Given the description of an element on the screen output the (x, y) to click on. 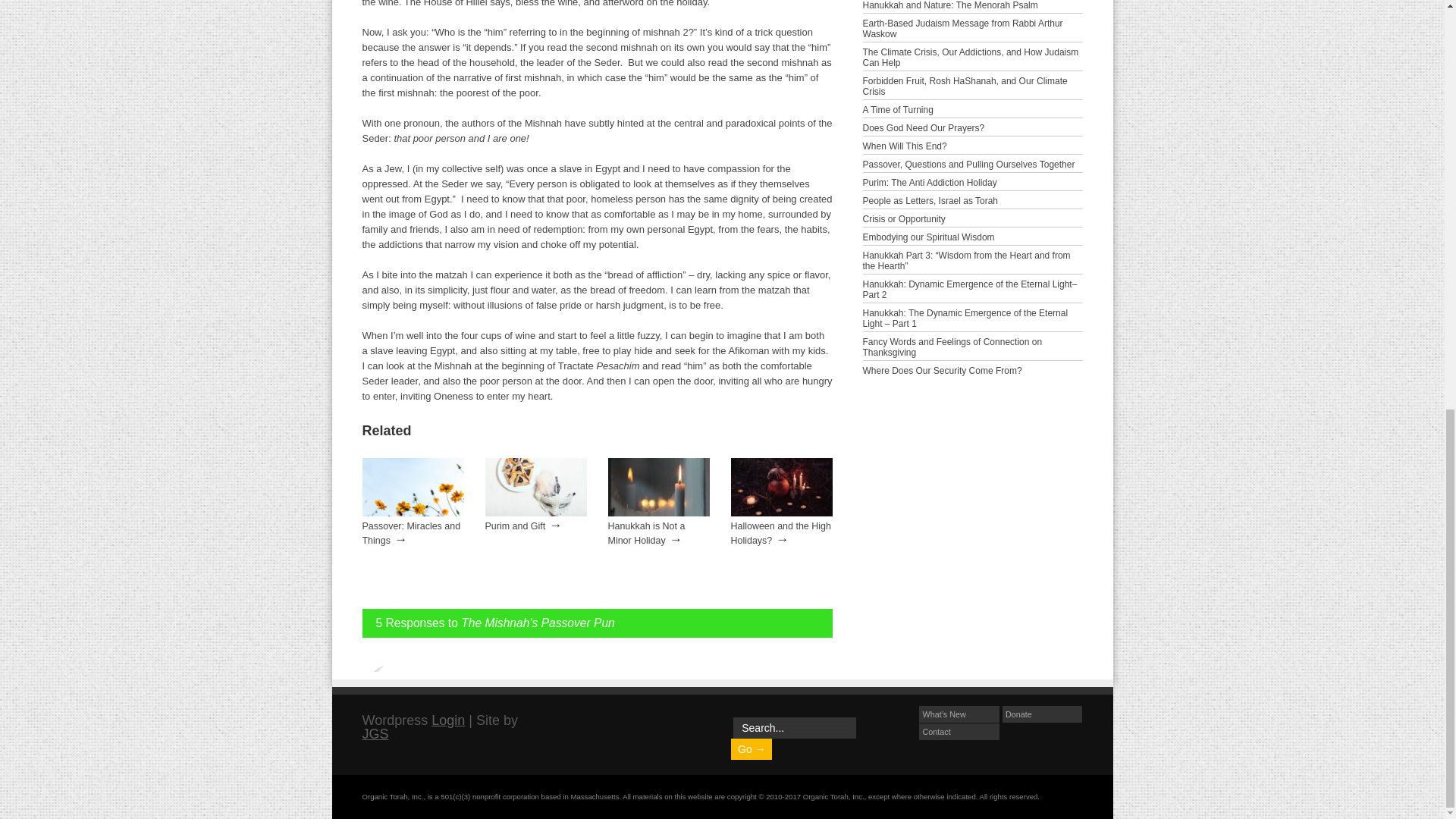
Halloween and the High Holidays? (781, 512)
Hanukkah is Not a Minor Holiday (646, 533)
Passover: Miracles and Things (411, 533)
Purim and Gift (535, 512)
Passover: Miracles and Things (413, 512)
Halloween and the High Holidays? (780, 533)
Purim and Gift (515, 525)
Search... (794, 727)
Passover: Miracles and Things (411, 533)
Hanukkah is Not a Minor Holiday (646, 533)
